Given the description of an element on the screen output the (x, y) to click on. 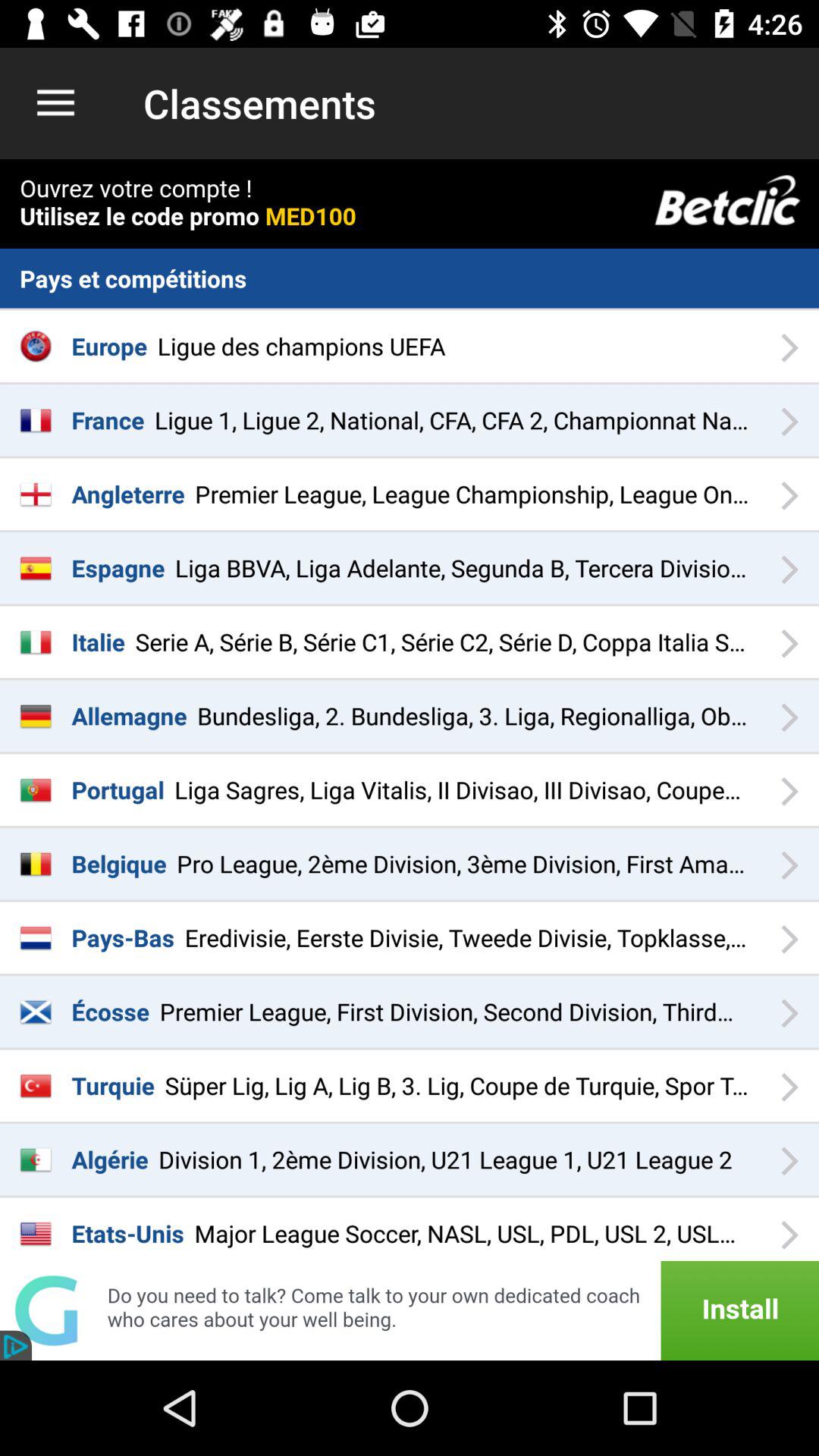
view advertisement (409, 1310)
